Given the description of an element on the screen output the (x, y) to click on. 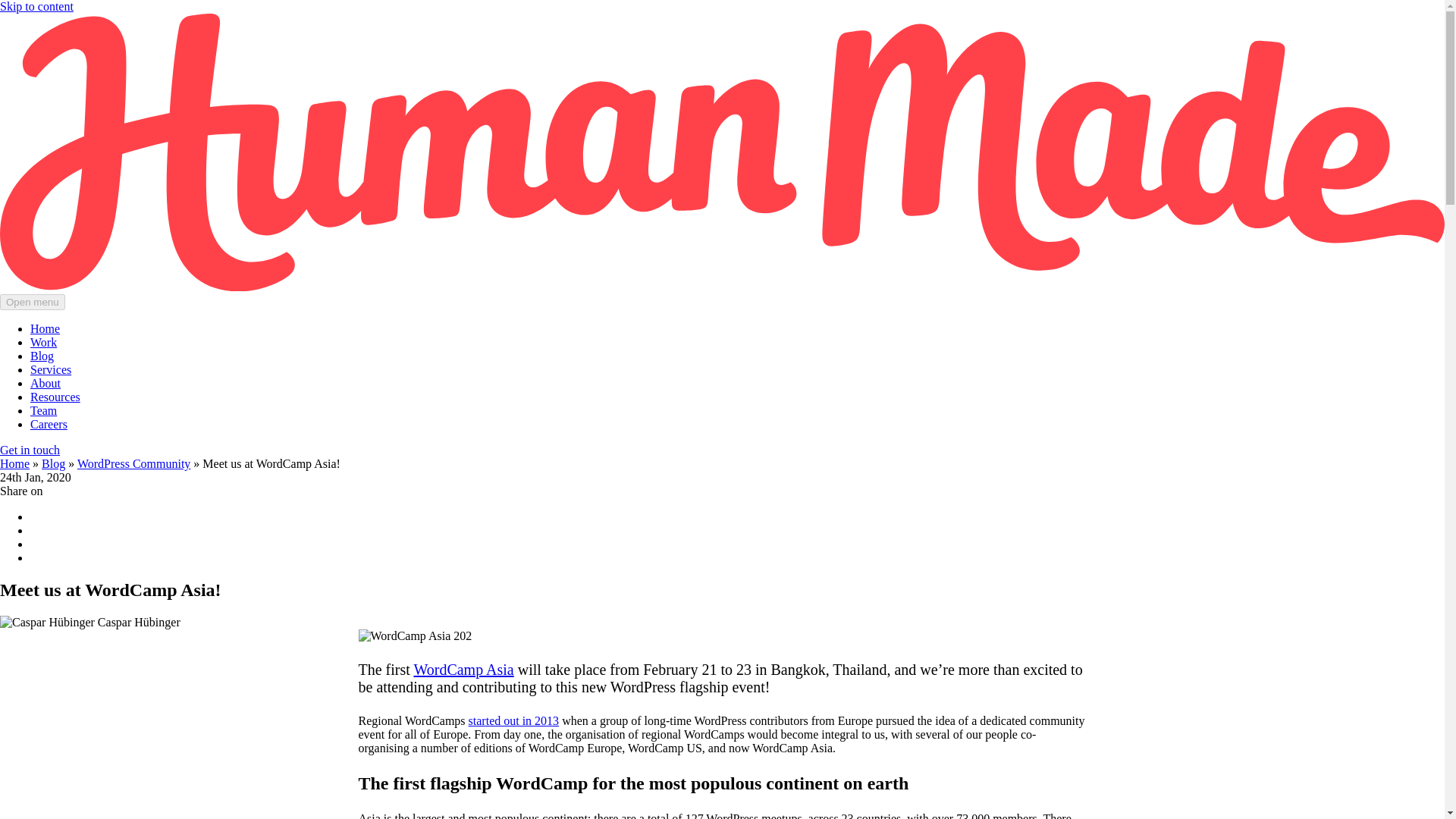
WordCamp Asia (463, 669)
Open menu (32, 302)
Blog (53, 463)
Home (44, 328)
WordPress Community (133, 463)
Get in touch (29, 449)
Team (43, 410)
Blog (41, 355)
Resources (55, 396)
About (45, 382)
